Given the description of an element on the screen output the (x, y) to click on. 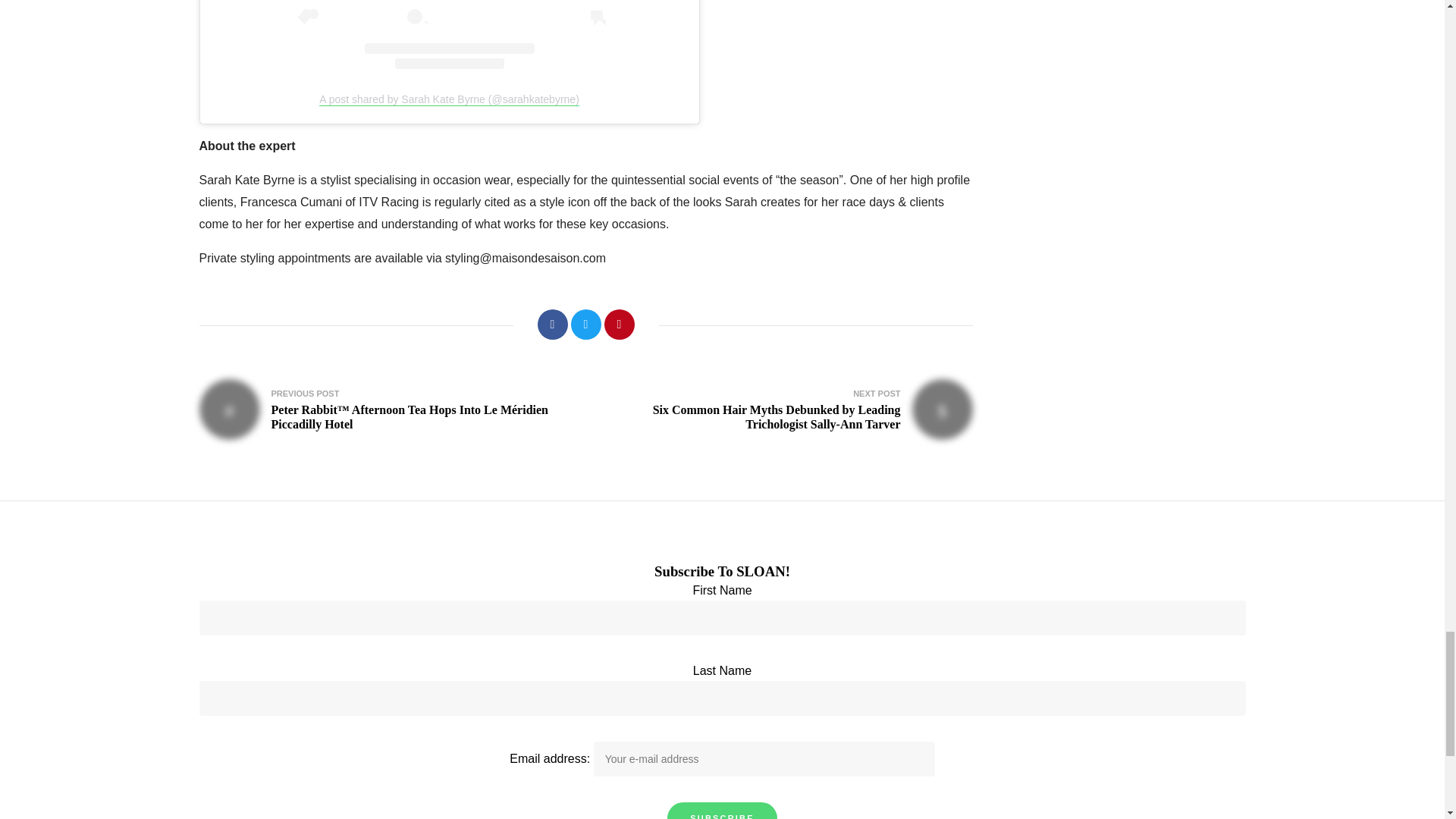
Subscribe (721, 810)
Twitter (584, 324)
Pinterest (618, 324)
Facebook (552, 324)
